Given the description of an element on the screen output the (x, y) to click on. 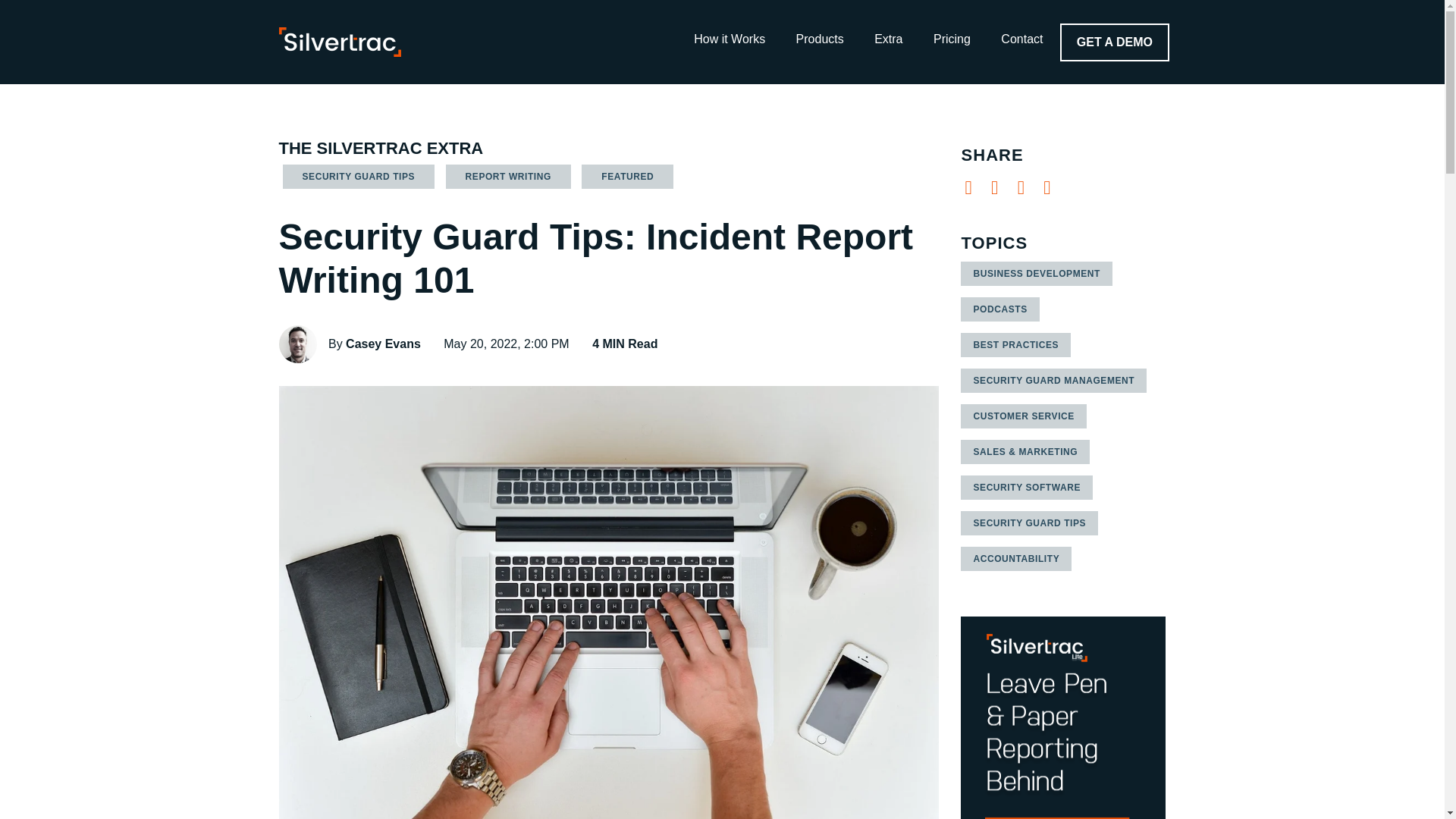
Contact (1021, 39)
Pricing (951, 39)
BEST PRACTICES (1015, 344)
Extra (888, 39)
How it Works (729, 39)
Get a Demo (1114, 41)
REPORT WRITING (507, 176)
BUSINESS DEVELOPMENT (1036, 273)
SECURITY GUARD TIPS (357, 176)
Products (819, 39)
GET A DEMO (1114, 41)
Casey Evans (298, 344)
FEATURED (626, 176)
PODCASTS (999, 309)
